Given the description of an element on the screen output the (x, y) to click on. 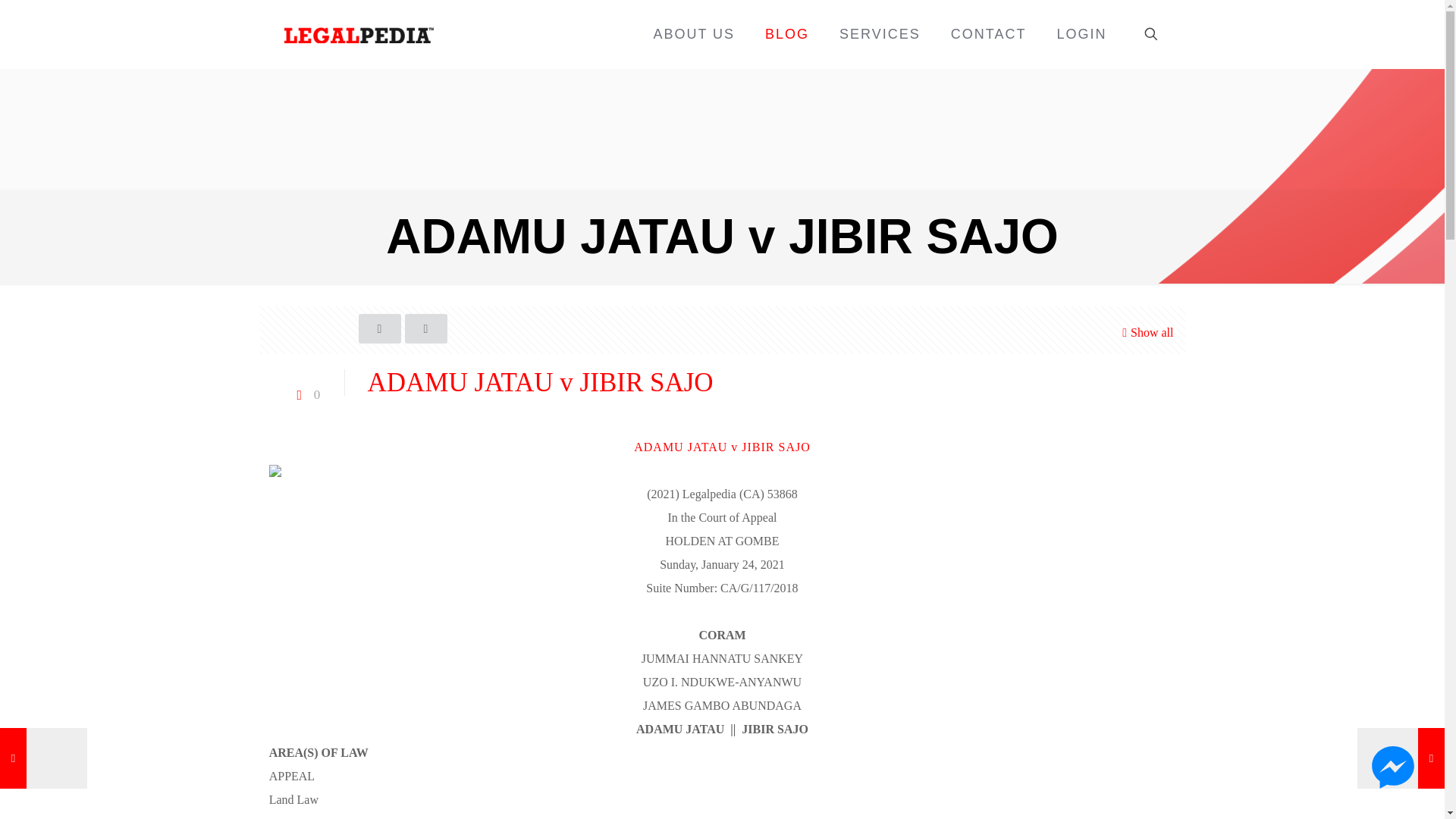
BLOG (786, 33)
Show all (1145, 332)
SERVICES (880, 33)
CONTACT (989, 33)
LOGIN (1081, 33)
0 (306, 394)
ABOUT US (693, 33)
